Given the description of an element on the screen output the (x, y) to click on. 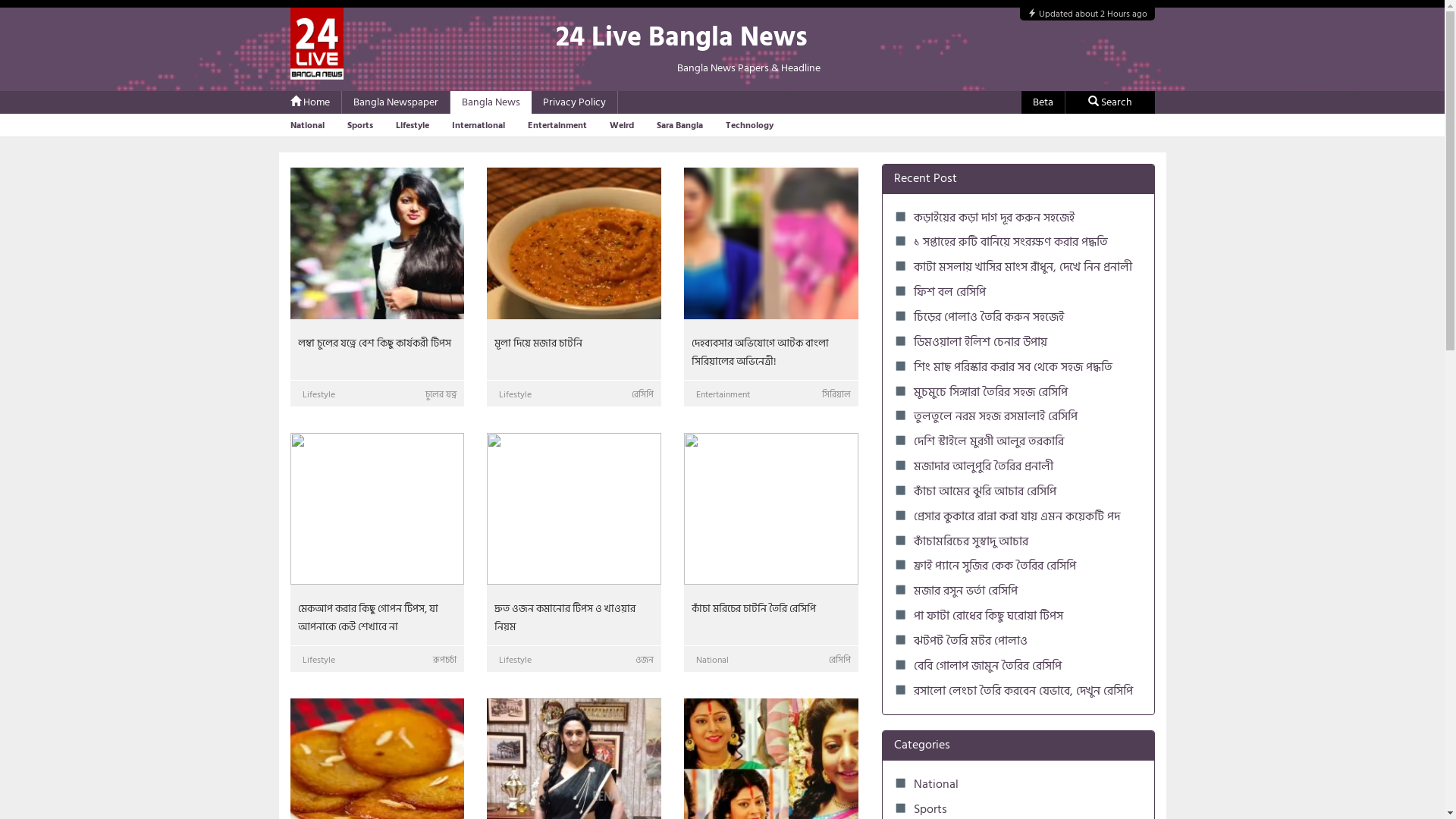
Home Element type: text (310, 102)
Sara Bangla Element type: text (679, 125)
Bangla News Element type: text (490, 102)
Search Element type: text (1109, 102)
International Element type: text (478, 125)
National Element type: text (935, 783)
National Element type: text (306, 125)
Sports Element type: text (360, 125)
Lifestyle Element type: text (412, 125)
Weird Element type: text (621, 125)
Bangla Newspaper Element type: text (394, 102)
Privacy Policy Element type: text (573, 102)
Entertainment Element type: text (556, 125)
Technology Element type: text (748, 125)
